Given the description of an element on the screen output the (x, y) to click on. 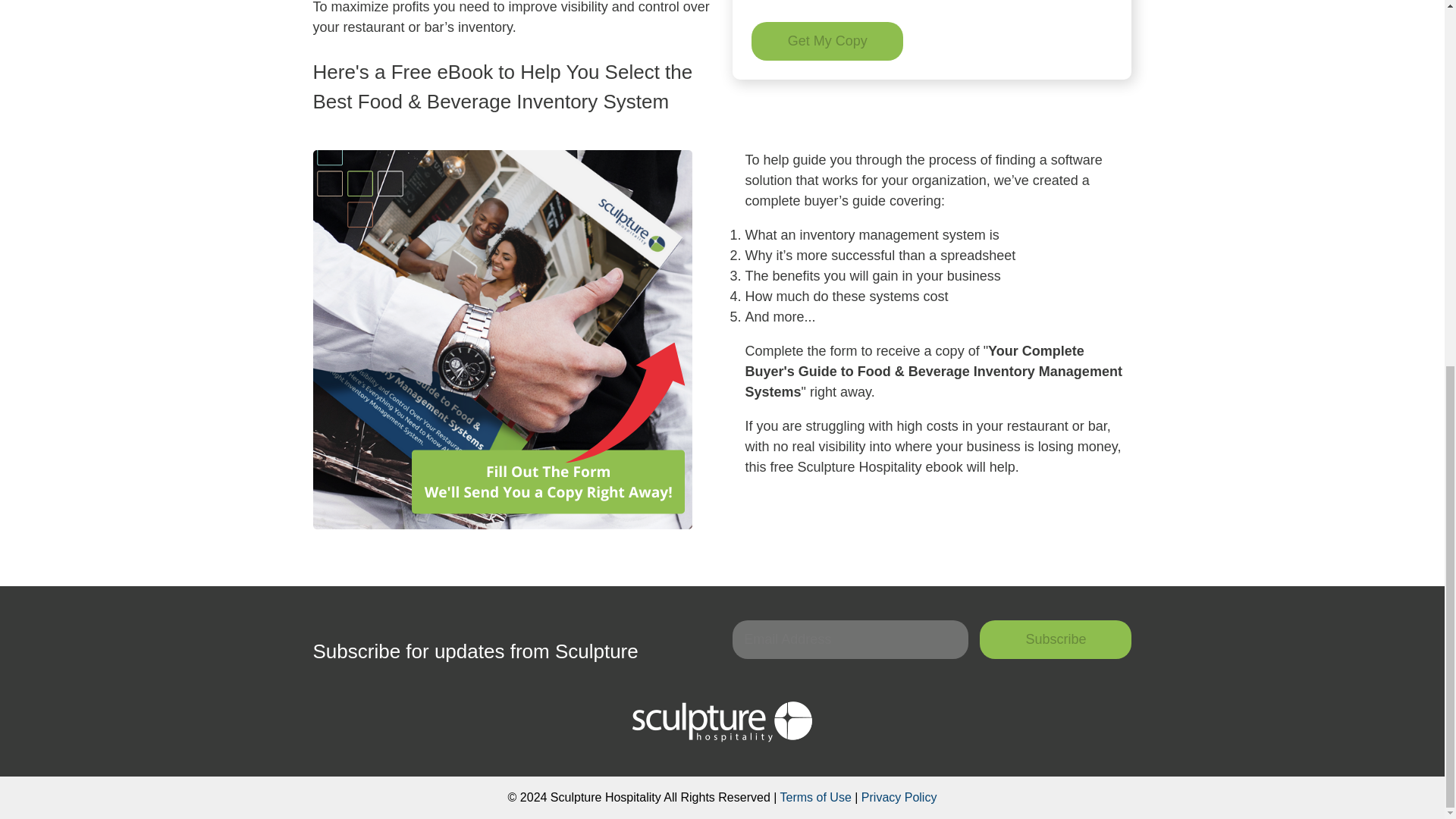
Subscribe (1055, 639)
Terms of Use (815, 797)
Subscribe (1055, 639)
Get My Copy (826, 41)
Privacy Policy (899, 797)
logo-white (721, 721)
Get My Copy (826, 41)
